Given the description of an element on the screen output the (x, y) to click on. 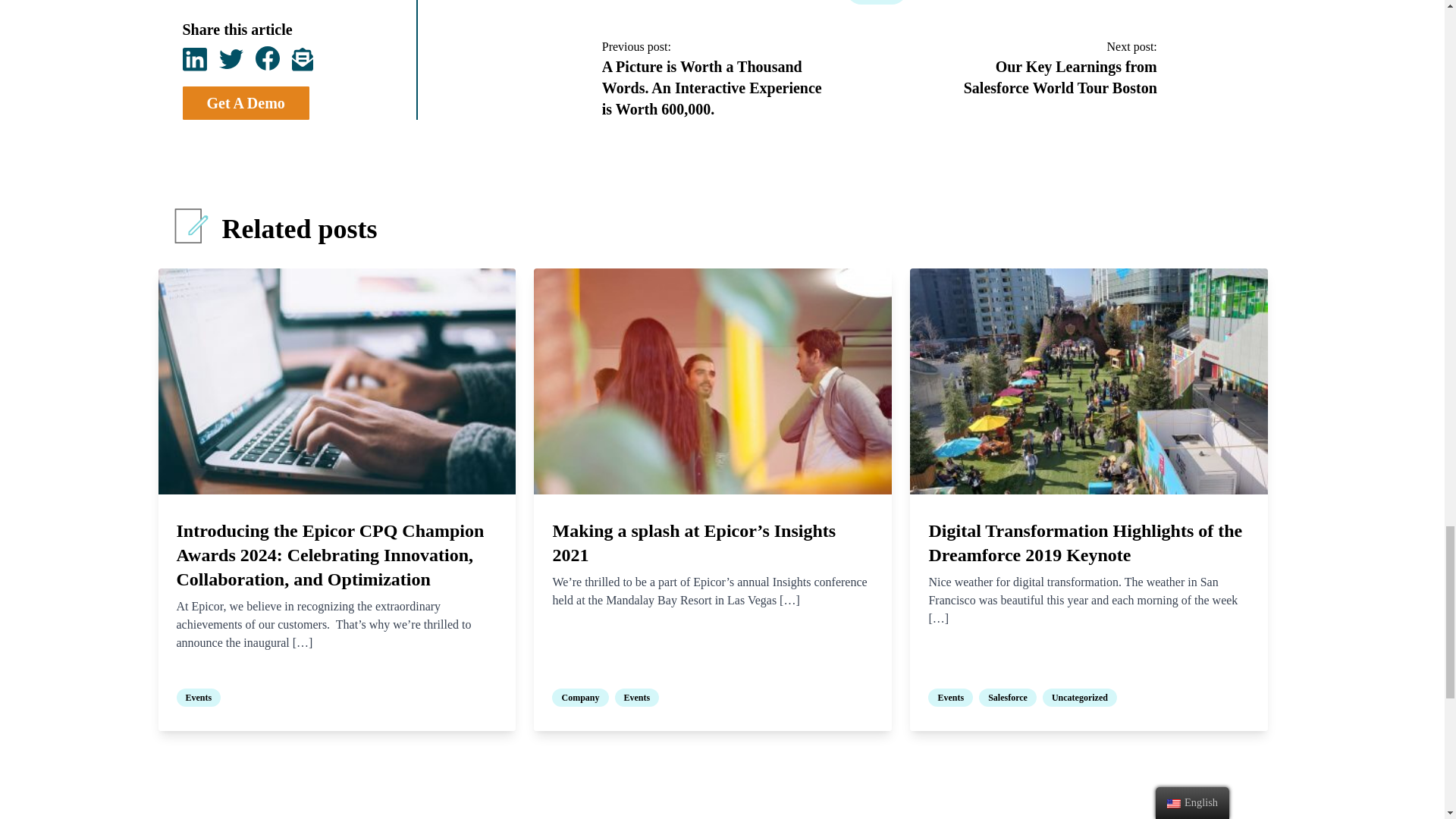
Events (876, 2)
Our Key Learnings from Salesforce World Tour Boston (1060, 77)
